Given the description of an element on the screen output the (x, y) to click on. 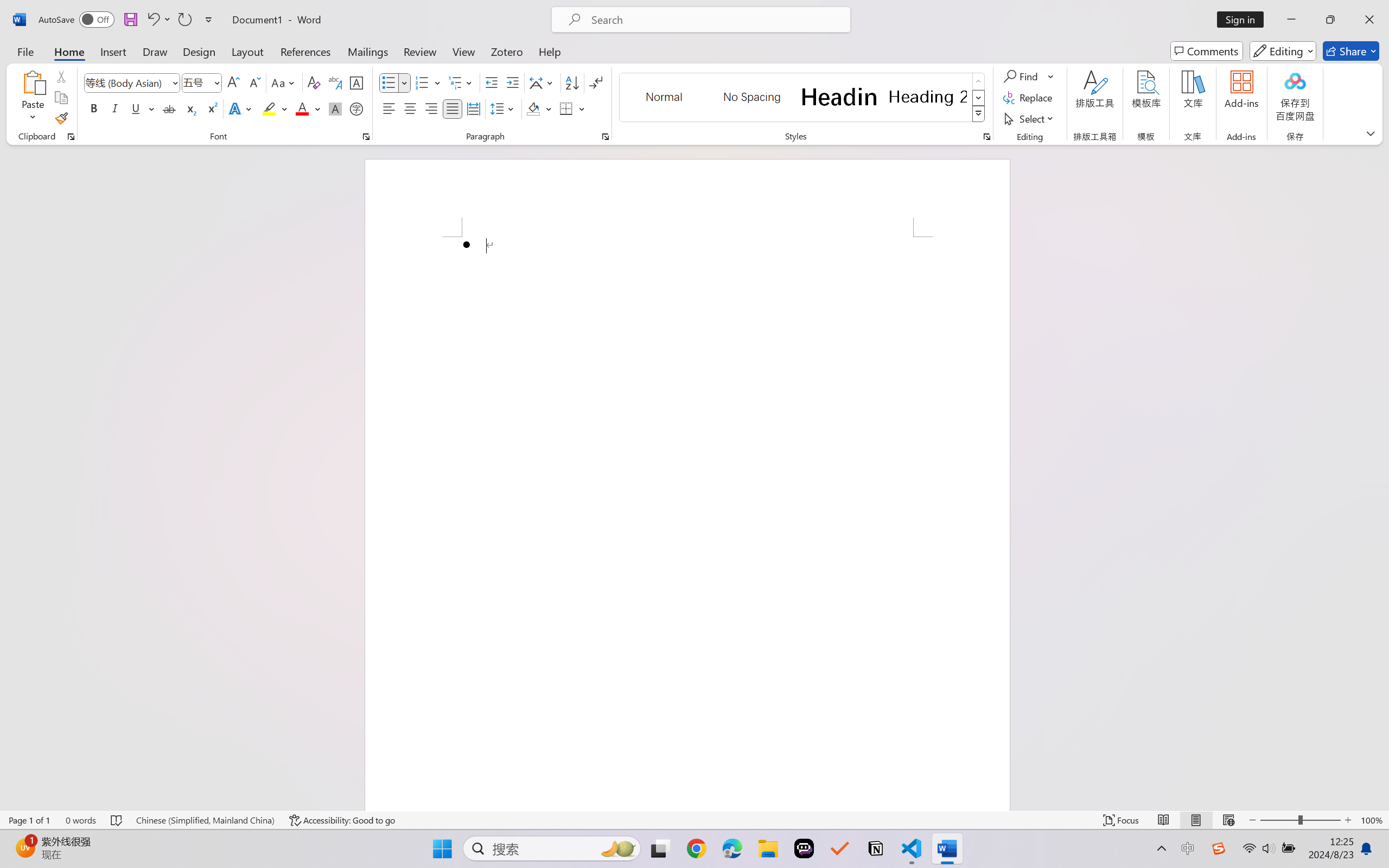
Repeat Bullet Default (184, 19)
